Given the description of an element on the screen output the (x, y) to click on. 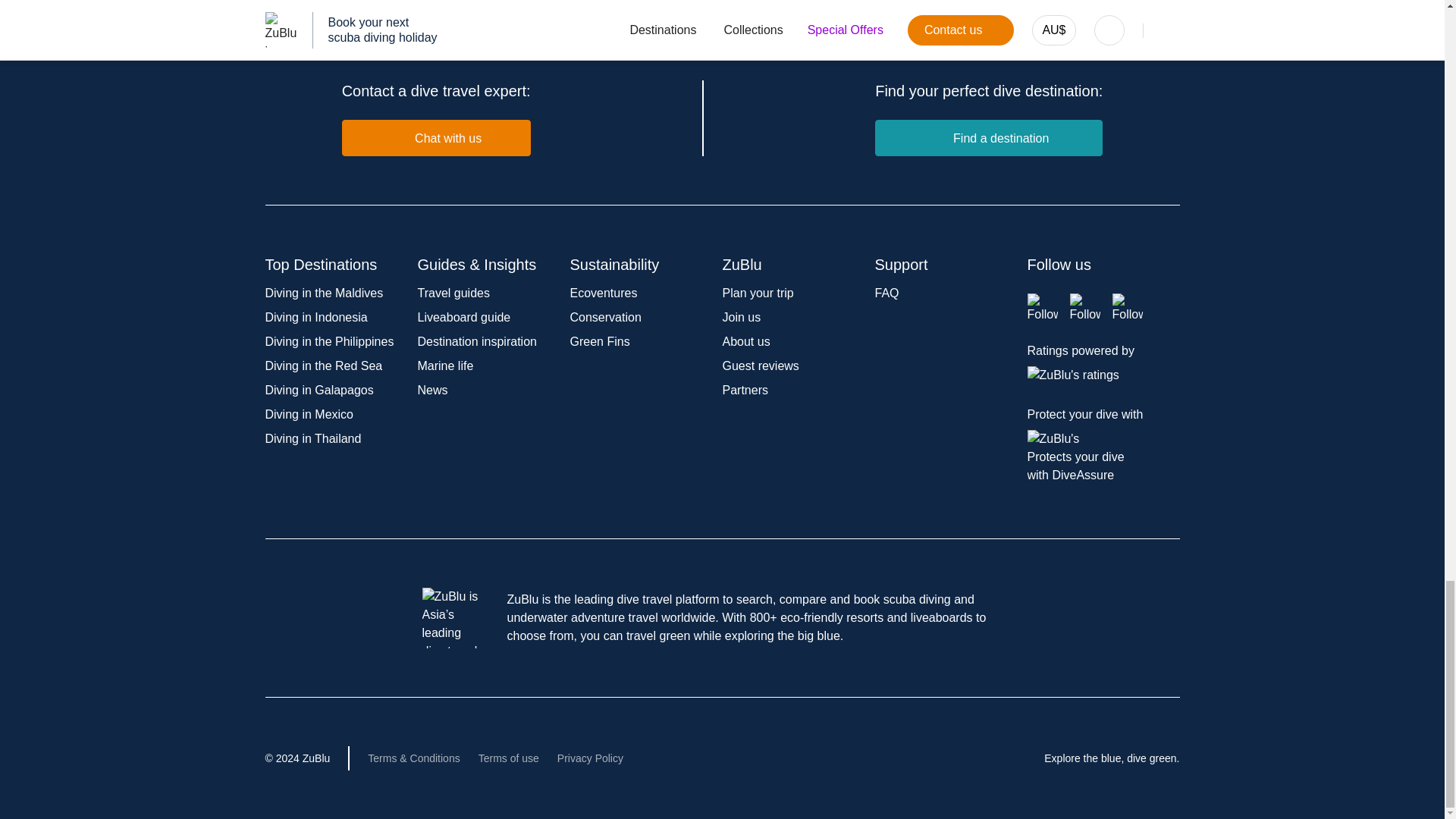
Find a destination (988, 137)
Diving in Mexico (308, 413)
Liveaboard guide (463, 317)
Travel guides (452, 292)
Diving in the Red Sea (323, 365)
Chat with us (436, 137)
Diving in the Maldives (324, 292)
Diving in Thailand (312, 438)
Diving in Galapagos (319, 390)
Diving in the Philippines (329, 341)
